Given the description of an element on the screen output the (x, y) to click on. 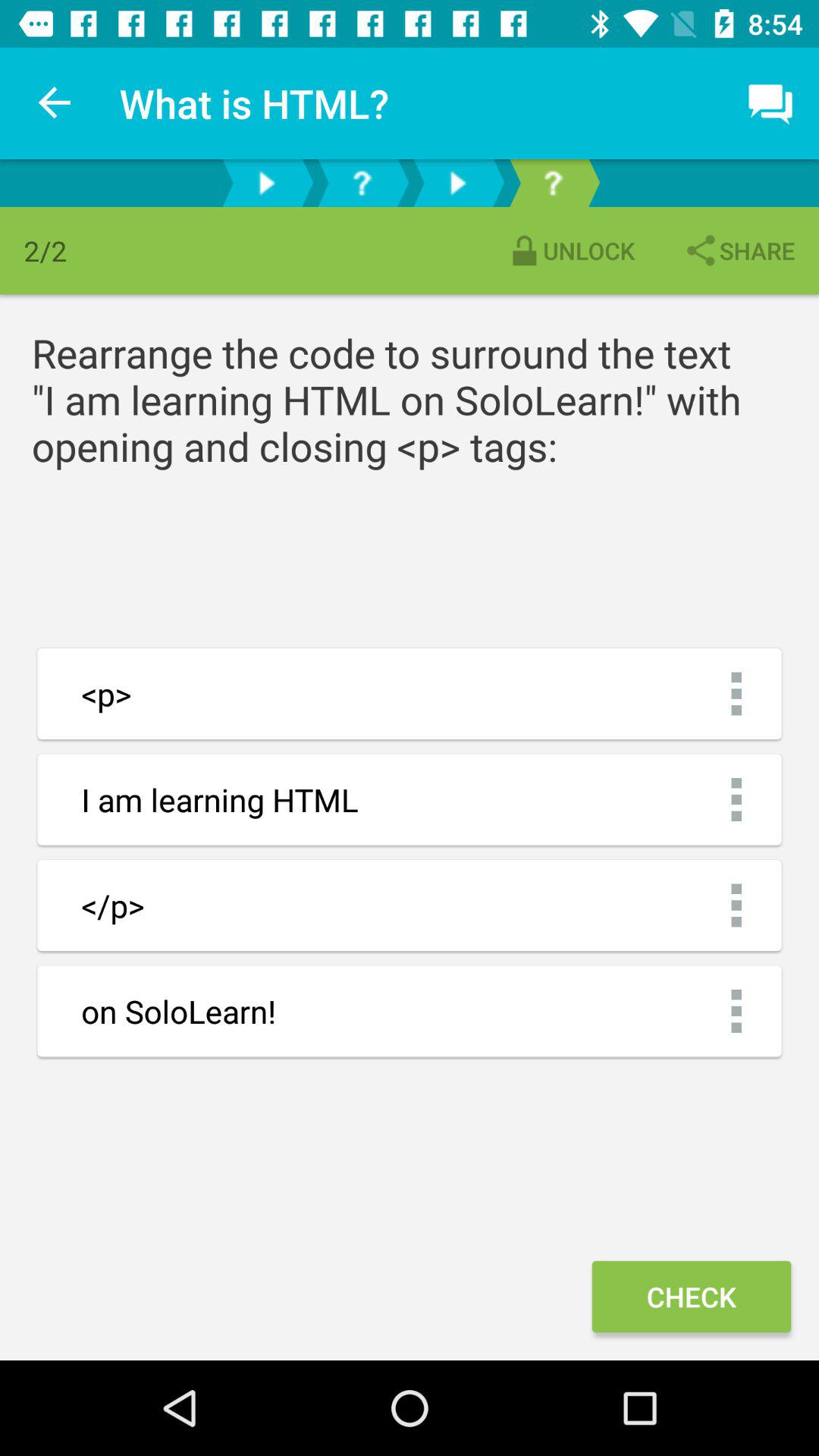
need help questions (552, 183)
